Given the description of an element on the screen output the (x, y) to click on. 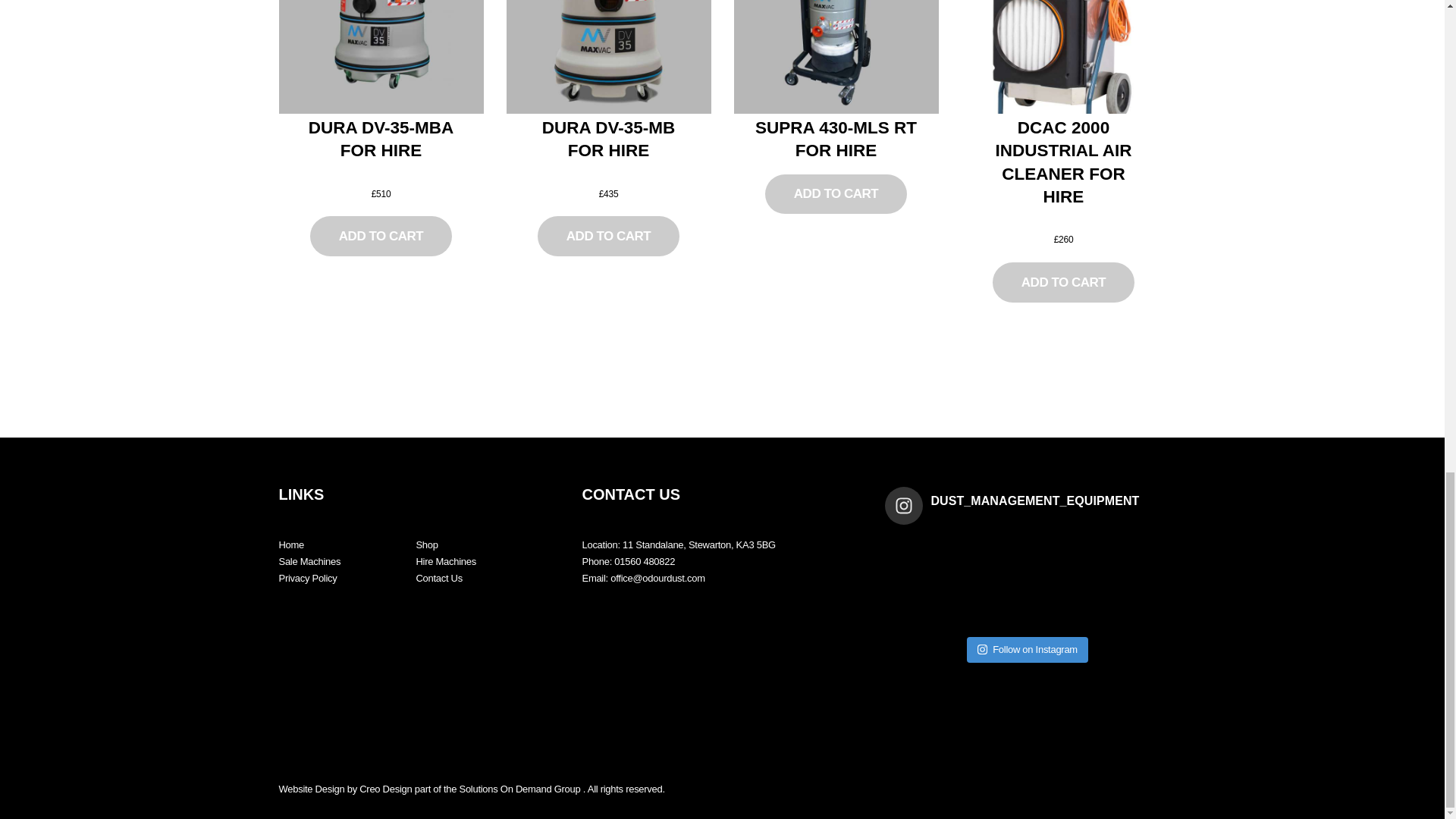
SUPRA 430-MLS RT FOR HIRE (835, 139)
ADD TO CART (607, 236)
ADD TO CART (380, 236)
ADD TO CART (1063, 282)
DCAC 2000 INDUSTRIAL AIR CLEANER FOR HIRE (1063, 163)
DURA DV-35-MB FOR HIRE (608, 139)
DURA DV-35-MBA FOR HIRE (381, 139)
ADD TO CART (835, 194)
